Given the description of an element on the screen output the (x, y) to click on. 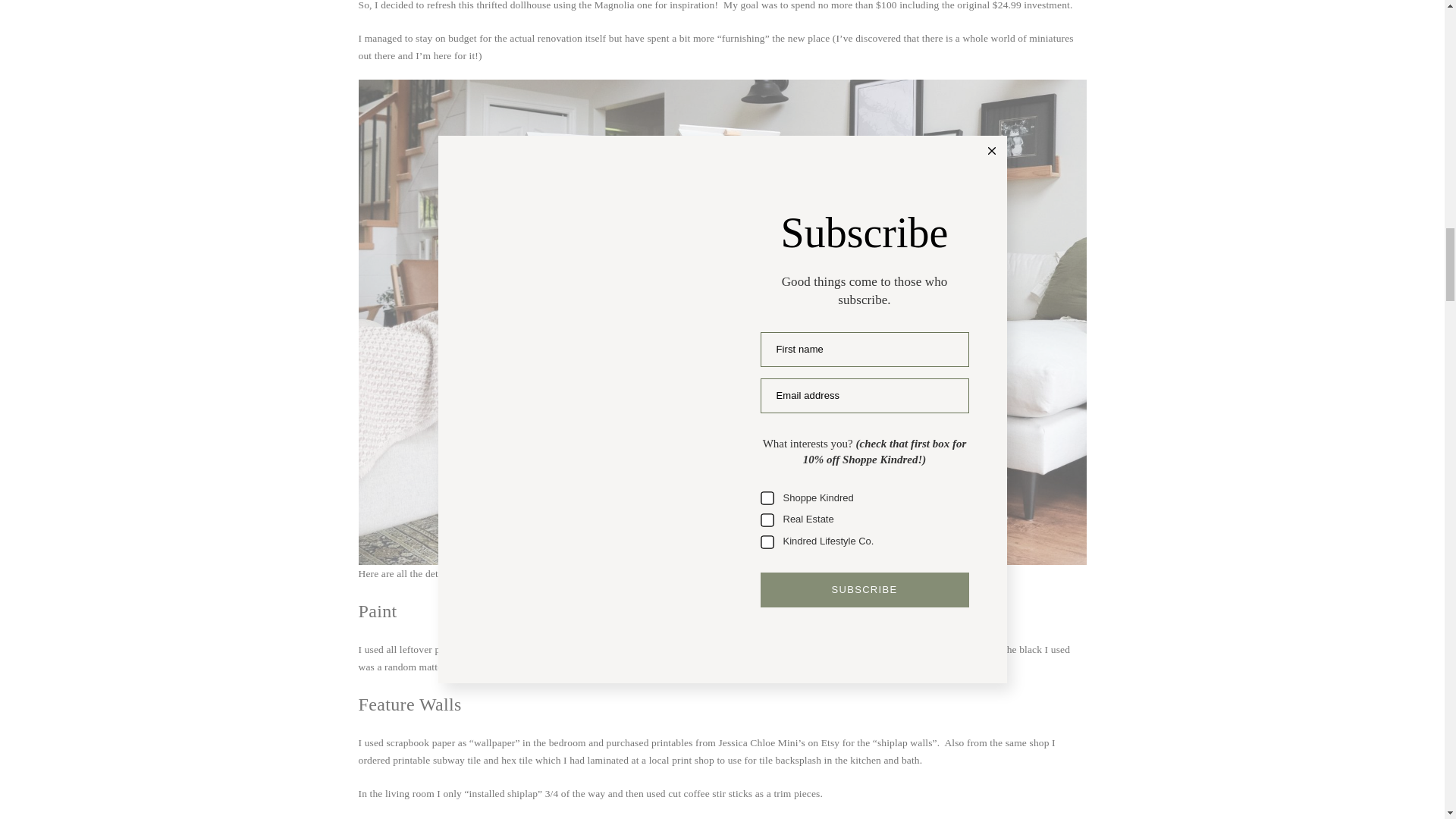
subway tile (456, 759)
hex tile (516, 759)
shiplap walls (905, 742)
